Given the description of an element on the screen output the (x, y) to click on. 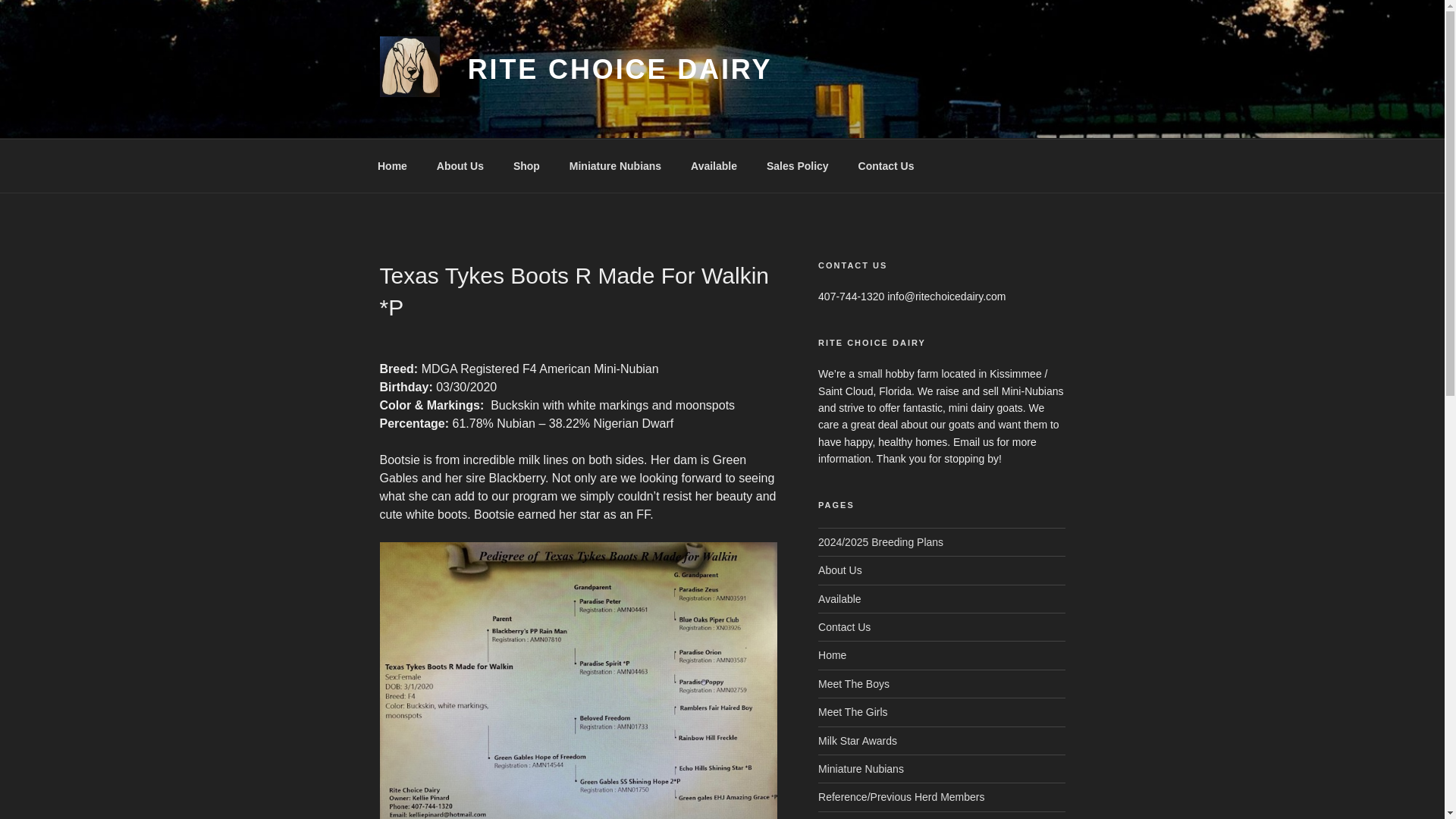
Miniature Nubians (861, 768)
Shop (526, 165)
Home (392, 165)
Contact Us (844, 626)
Sales Policy (796, 165)
Available (839, 598)
Milk Star Awards (857, 740)
Meet The Boys (853, 684)
Available (714, 165)
About Us (459, 165)
